Given the description of an element on the screen output the (x, y) to click on. 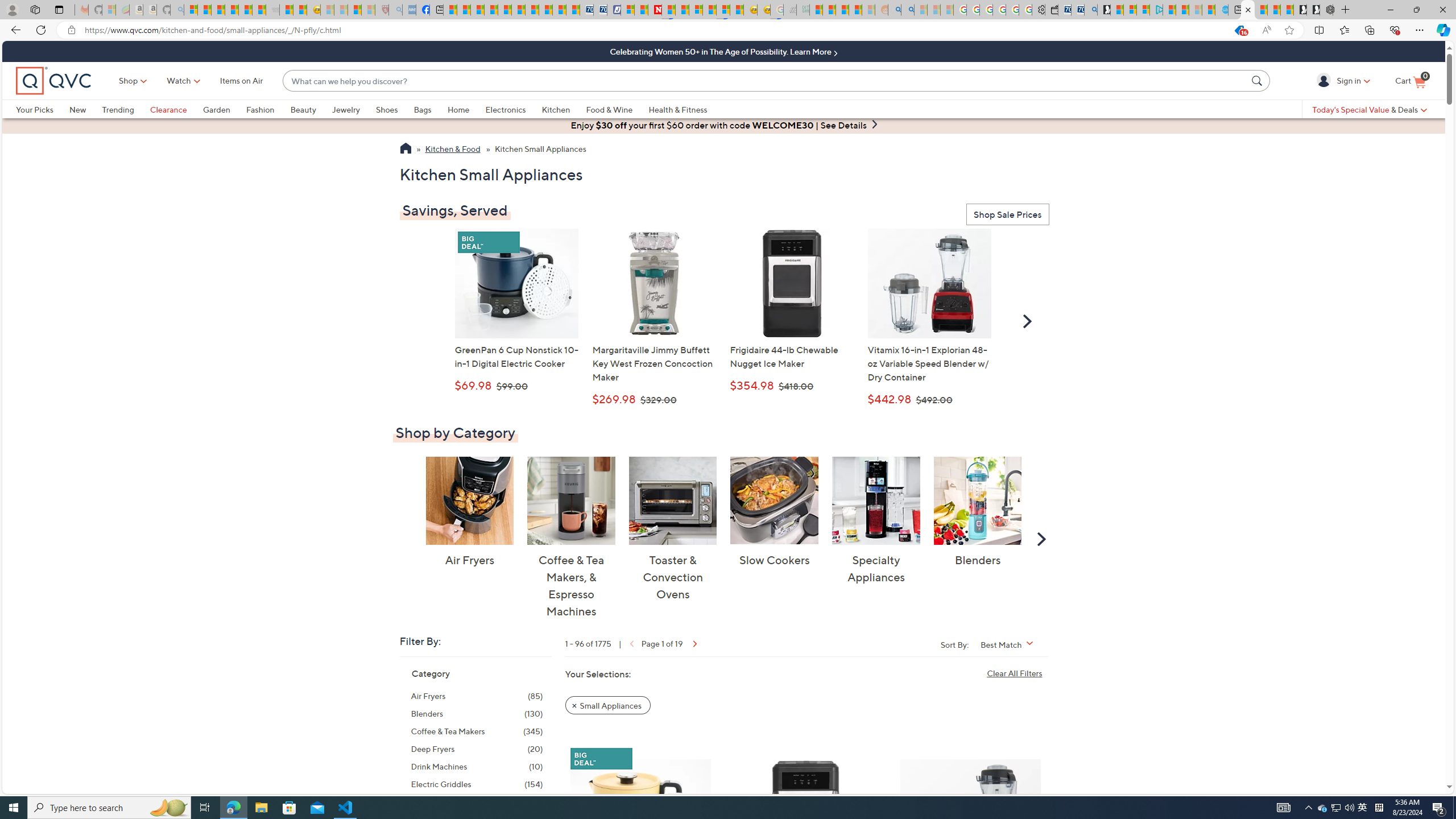
Blenders Blenders (977, 512)
Today's Special Value & Deals (1369, 109)
